Given the description of an element on the screen output the (x, y) to click on. 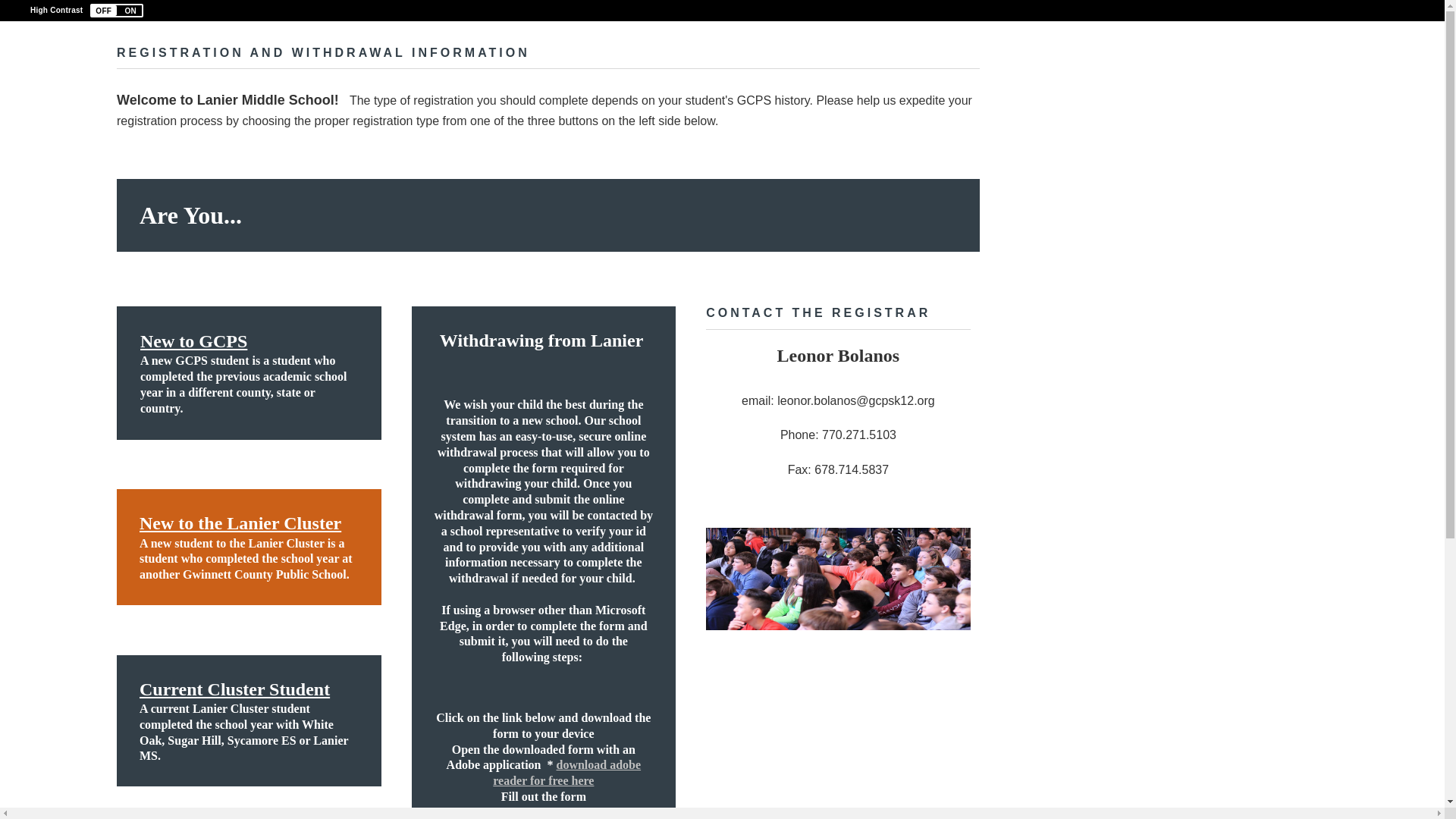
Registration (838, 578)
